Given the description of an element on the screen output the (x, y) to click on. 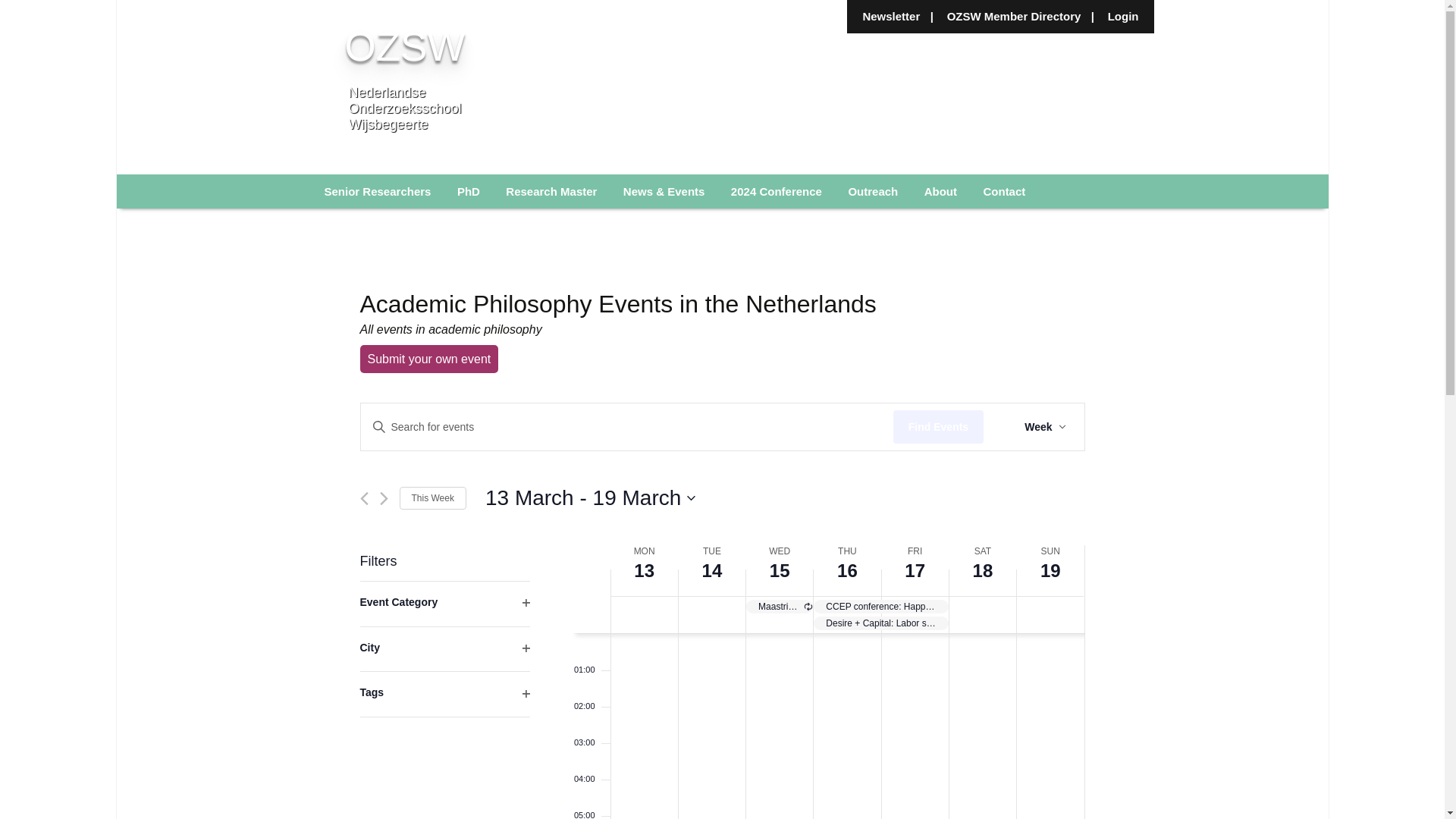
Research Master (551, 191)
Newsletter (890, 19)
2024 Conference (775, 191)
Information for ReMa students (570, 230)
PhD (468, 191)
Section Ethics and Practical Philosophy (388, 230)
